Given the description of an element on the screen output the (x, y) to click on. 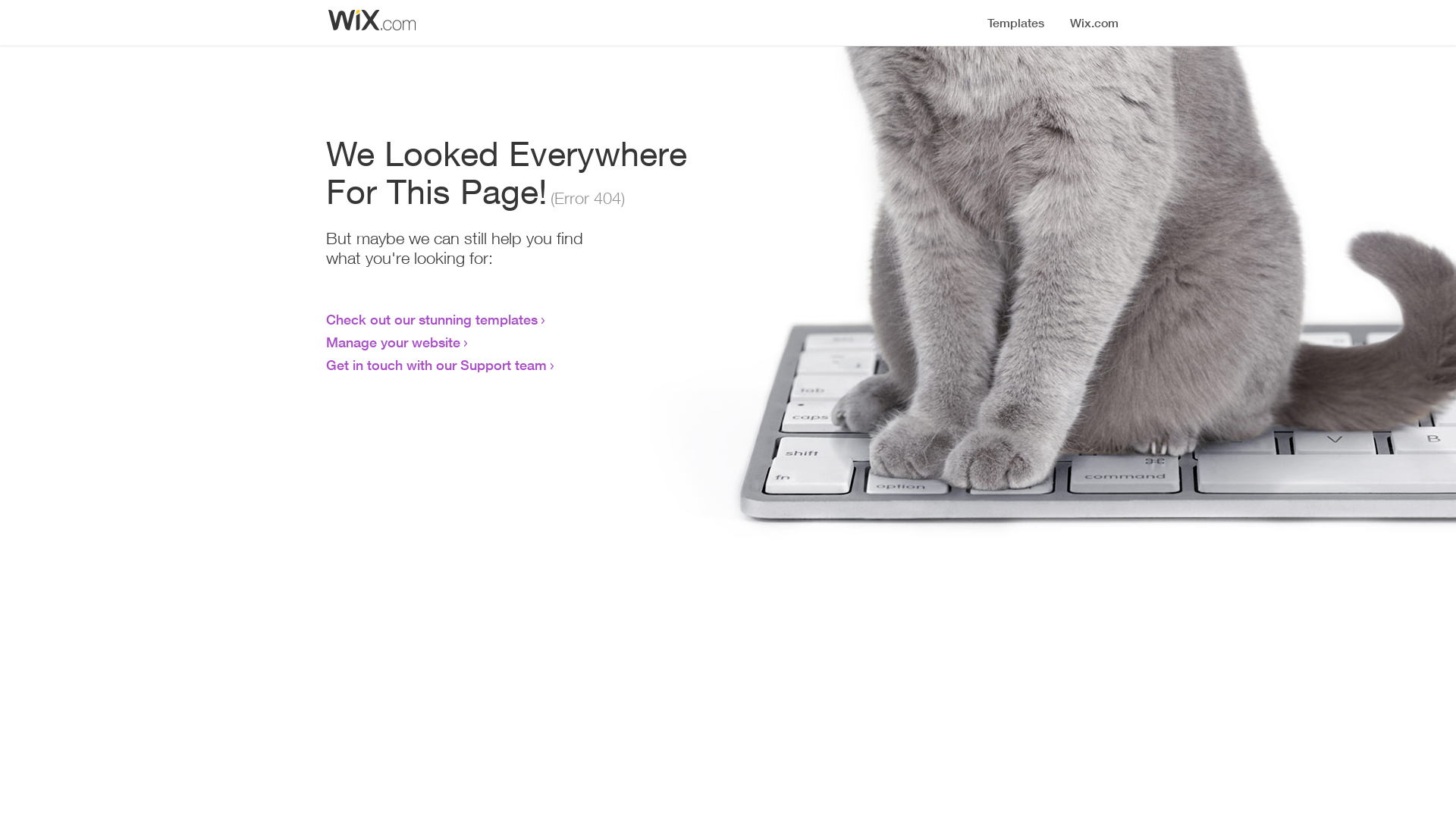
Manage your website Element type: text (393, 341)
Check out our stunning templates Element type: text (431, 318)
Get in touch with our Support team Element type: text (436, 364)
